Given the description of an element on the screen output the (x, y) to click on. 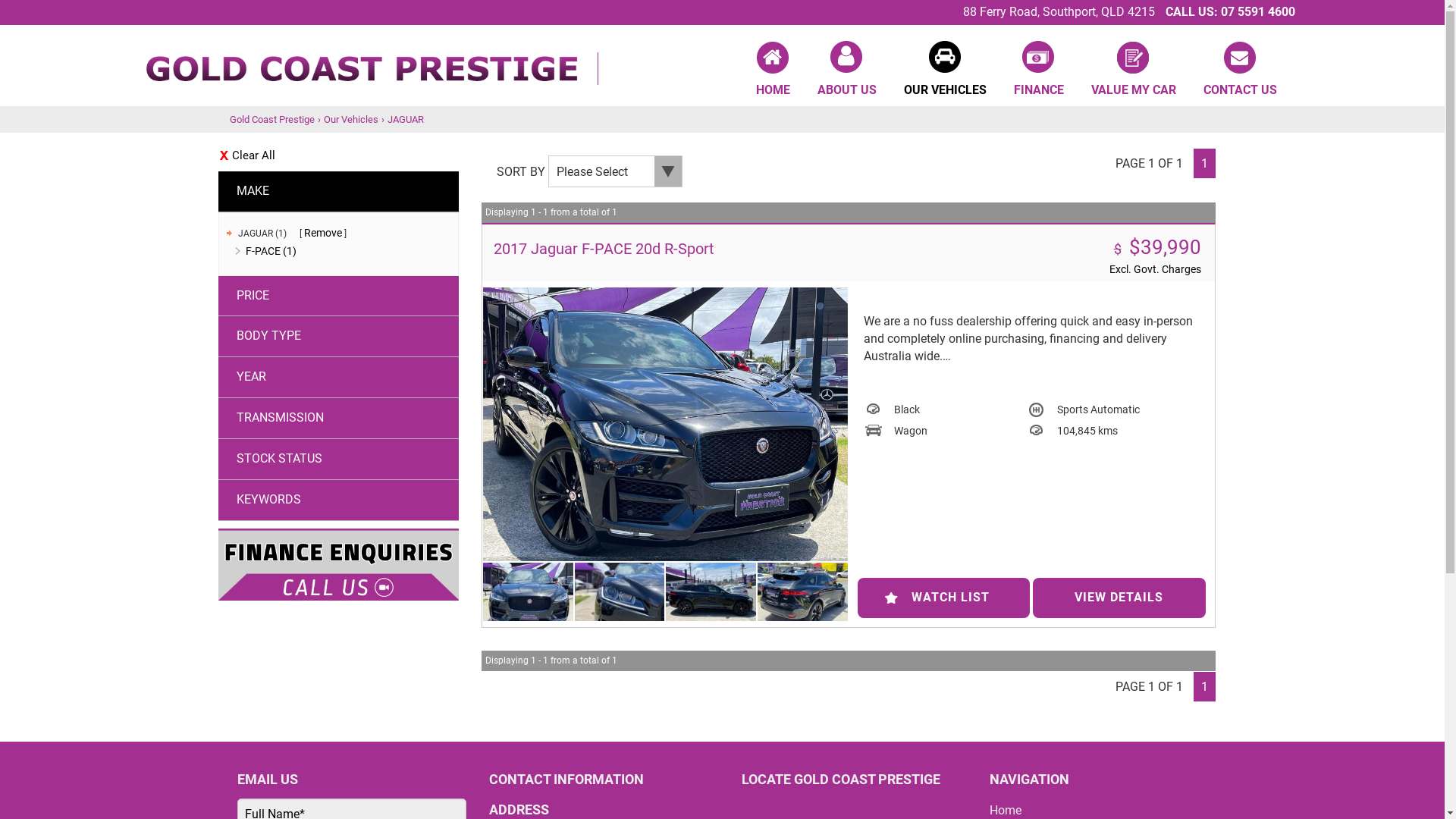
2017-Jaguar-F-PACE Element type: hover (802, 595)
$ Element type: text (1120, 246)
Gold Coast Prestige Element type: text (271, 119)
Our Vehicles Element type: text (350, 119)
WATCH LIST Element type: text (943, 597)
07 5591 4600 Element type: text (1257, 11)
Gold Coast Prestige Element type: hover (369, 61)
2017-Jaguar-F-PACE Element type: hover (619, 595)
Remove Element type: text (322, 232)
VALUE MY CAR Element type: text (1132, 68)
1 Element type: text (1204, 163)
$39,990 Element type: text (1164, 246)
2017-Jaguar-F-PACE Element type: hover (710, 595)
2017-Jaguar-F-PACE Element type: hover (665, 423)
FINANCE Element type: text (1037, 68)
Home Element type: text (1005, 810)
ABOUT US Element type: text (846, 68)
JAGUAR Element type: text (404, 119)
VIEW DETAILS Element type: text (1118, 597)
OUR VEHICLES Element type: text (945, 68)
1 Element type: text (1204, 686)
Clear All Element type: text (338, 155)
CONTACT US Element type: text (1239, 68)
2017-Jaguar-F-PACE Element type: hover (528, 595)
HOME Element type: text (772, 68)
F-PACE (1) Element type: text (270, 250)
2017 Jaguar F-PACE 20d R-Sport Element type: text (603, 248)
